Given the description of an element on the screen output the (x, y) to click on. 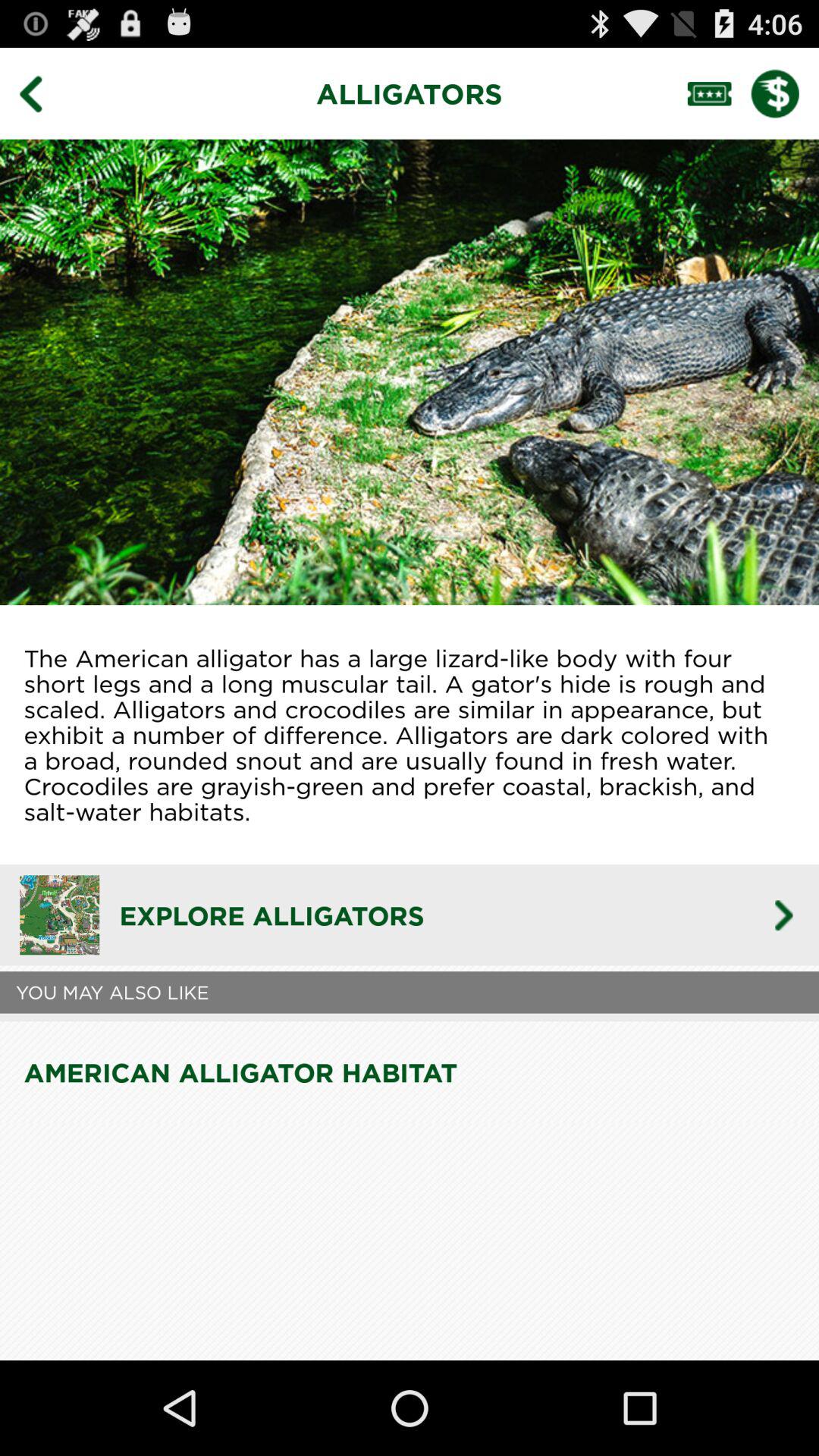
open the app next to alligators (41, 93)
